Given the description of an element on the screen output the (x, y) to click on. 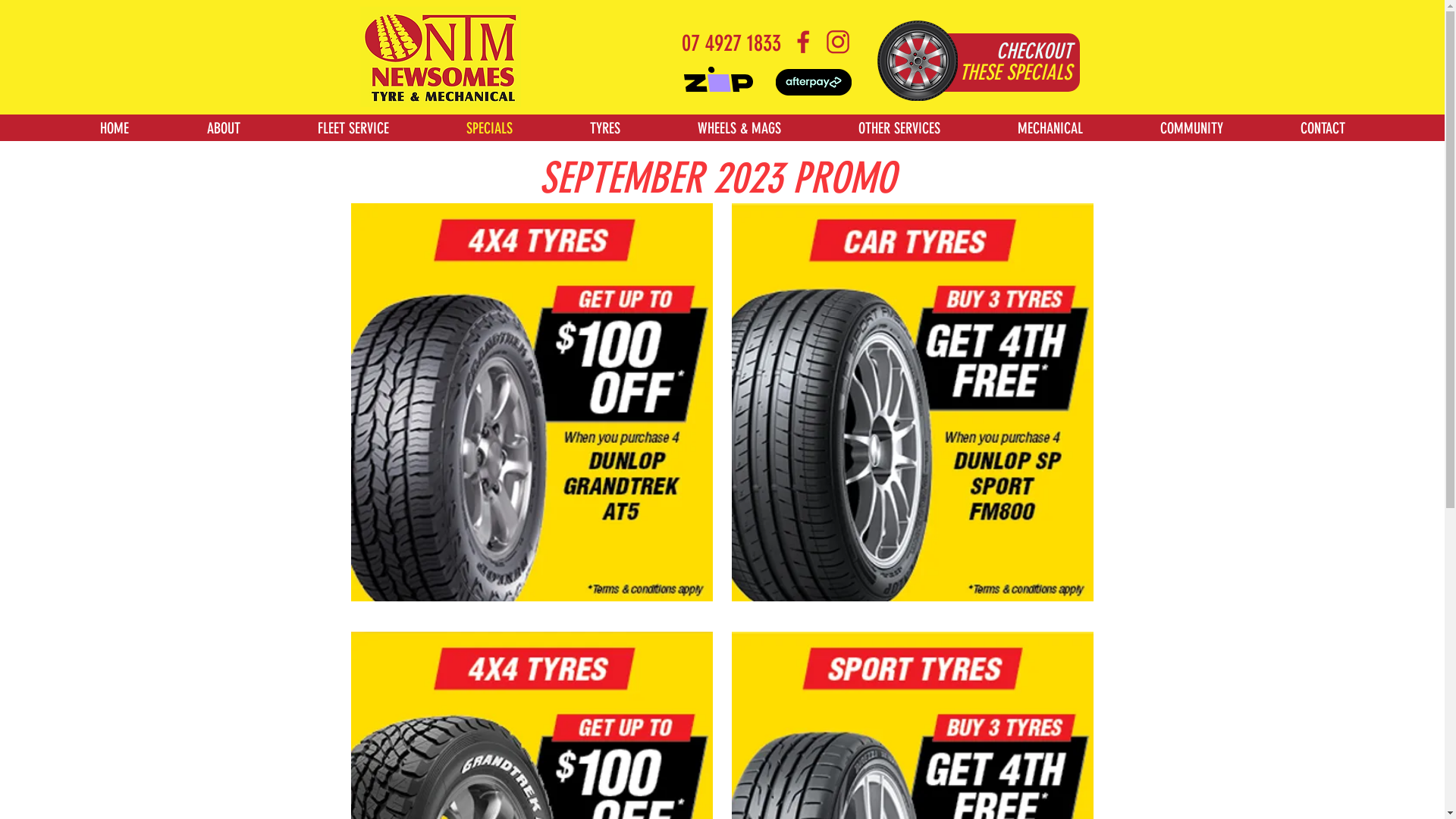
SPECIALS Element type: text (489, 127)
THESE SPECIALS Element type: text (1014, 71)
MECHANICAL Element type: text (1050, 127)
DSD_SEP_OCT_PROMO TILES_300X330.jpg Element type: hover (911, 402)
TYRES Element type: text (604, 127)
ABOUT Element type: text (223, 127)
FLEET SERVICE Element type: text (353, 127)
OTHER SERVICES Element type: text (899, 127)
HOME Element type: text (113, 127)
zipPay-Banner-v2.jpg Element type: hover (812, 82)
07 4927 1833 Element type: text (731, 42)
CHECKOUT Element type: text (1033, 50)
WHEELS & MAGS Element type: text (738, 127)
DSD_SEP_OCT_PROMO TILES_300X3304.jpg Element type: hover (531, 402)
CONTACT Element type: text (1322, 127)
COMMUNITY Element type: text (1191, 127)
